Given the description of an element on the screen output the (x, y) to click on. 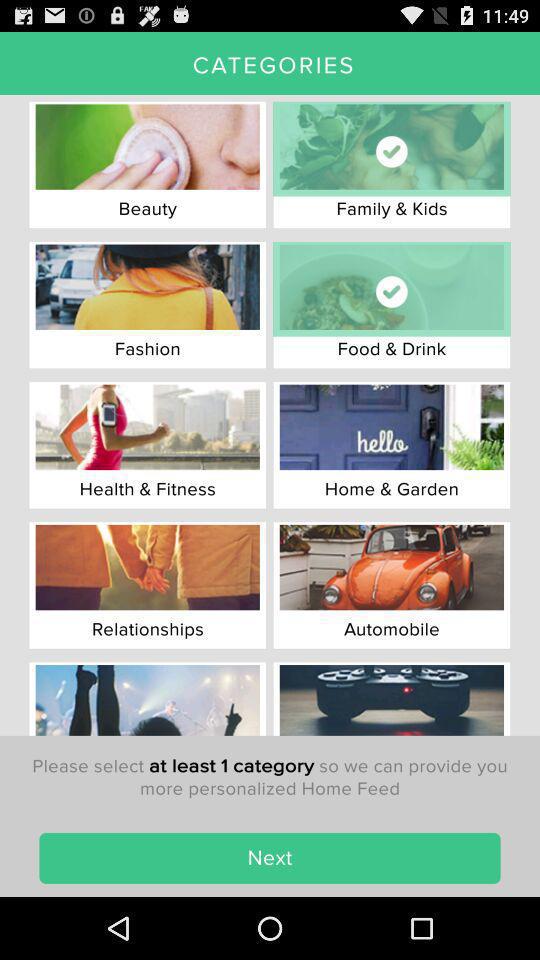
jump to next item (269, 857)
